Given the description of an element on the screen output the (x, y) to click on. 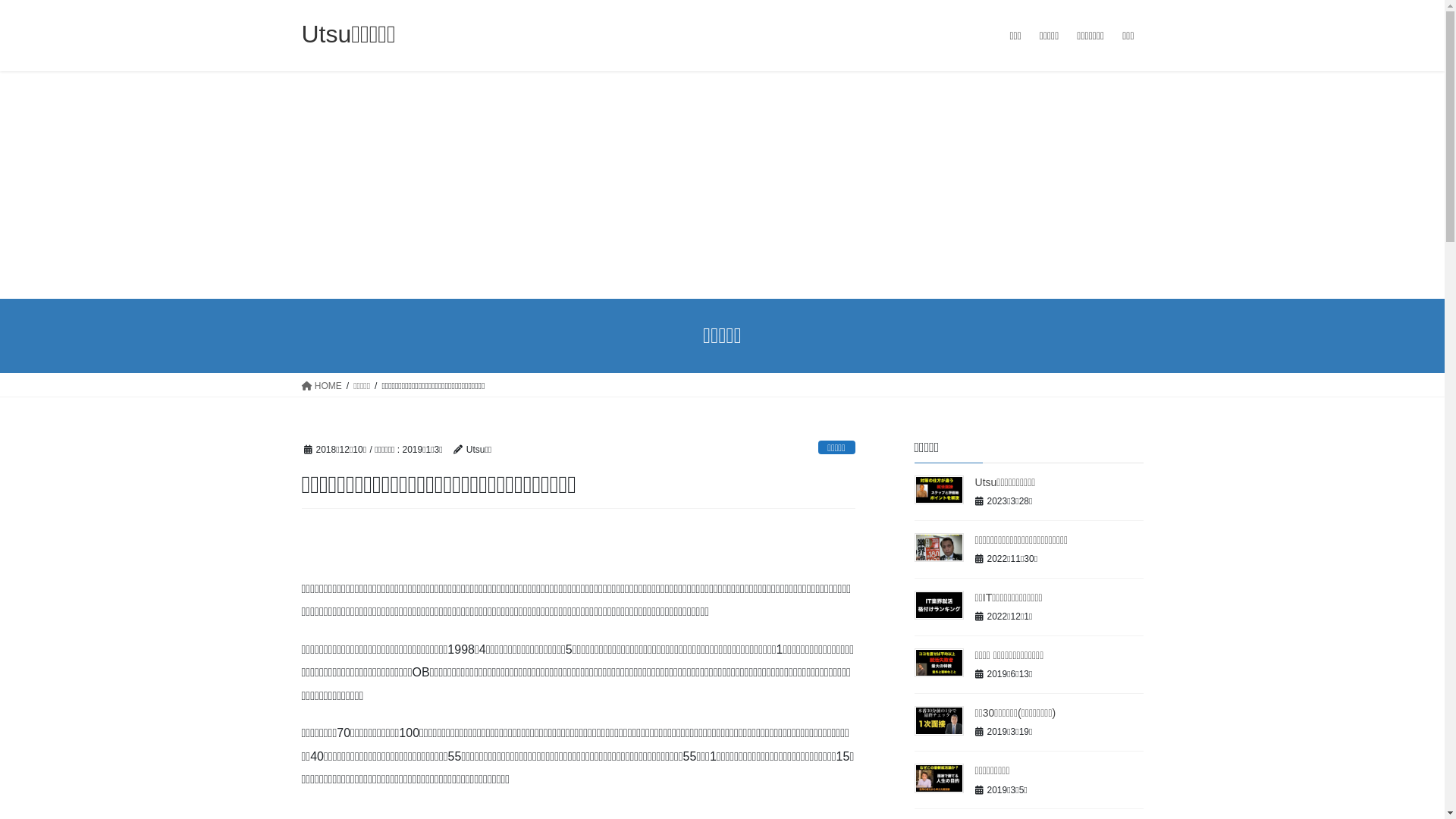
Advertisement Element type: hover (721, 184)
HOME Element type: text (321, 385)
